Given the description of an element on the screen output the (x, y) to click on. 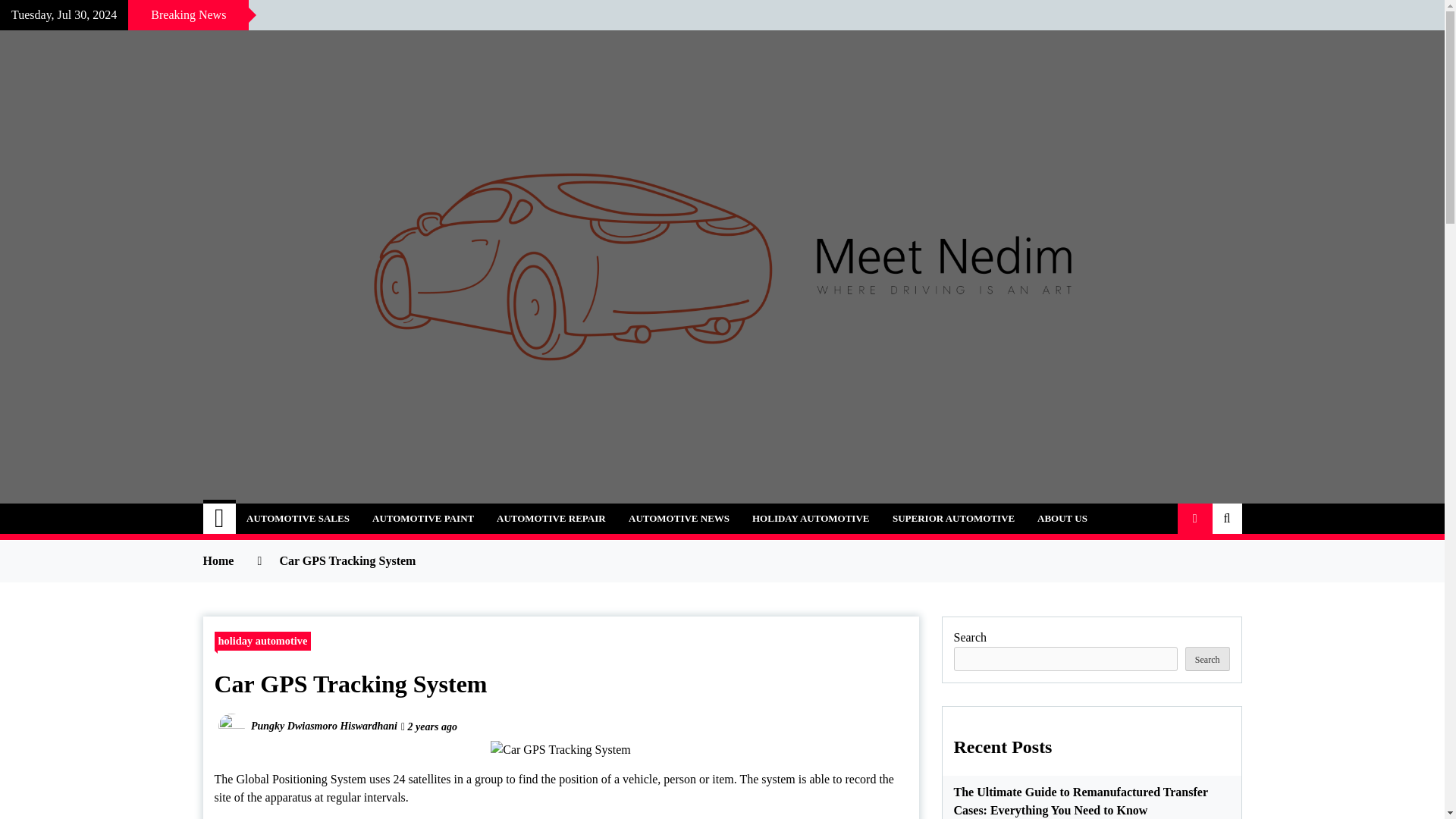
Home (219, 518)
Meet Nedim (294, 509)
Car GPS Tracking System (560, 750)
AUTOMOTIVE SALES (297, 518)
HOLIDAY AUTOMOTIVE (810, 518)
ABOUT US (1062, 518)
AUTOMOTIVE PAINT (422, 518)
AUTOMOTIVE REPAIR (550, 518)
AUTOMOTIVE NEWS (679, 518)
SUPERIOR AUTOMOTIVE (953, 518)
